Given the description of an element on the screen output the (x, y) to click on. 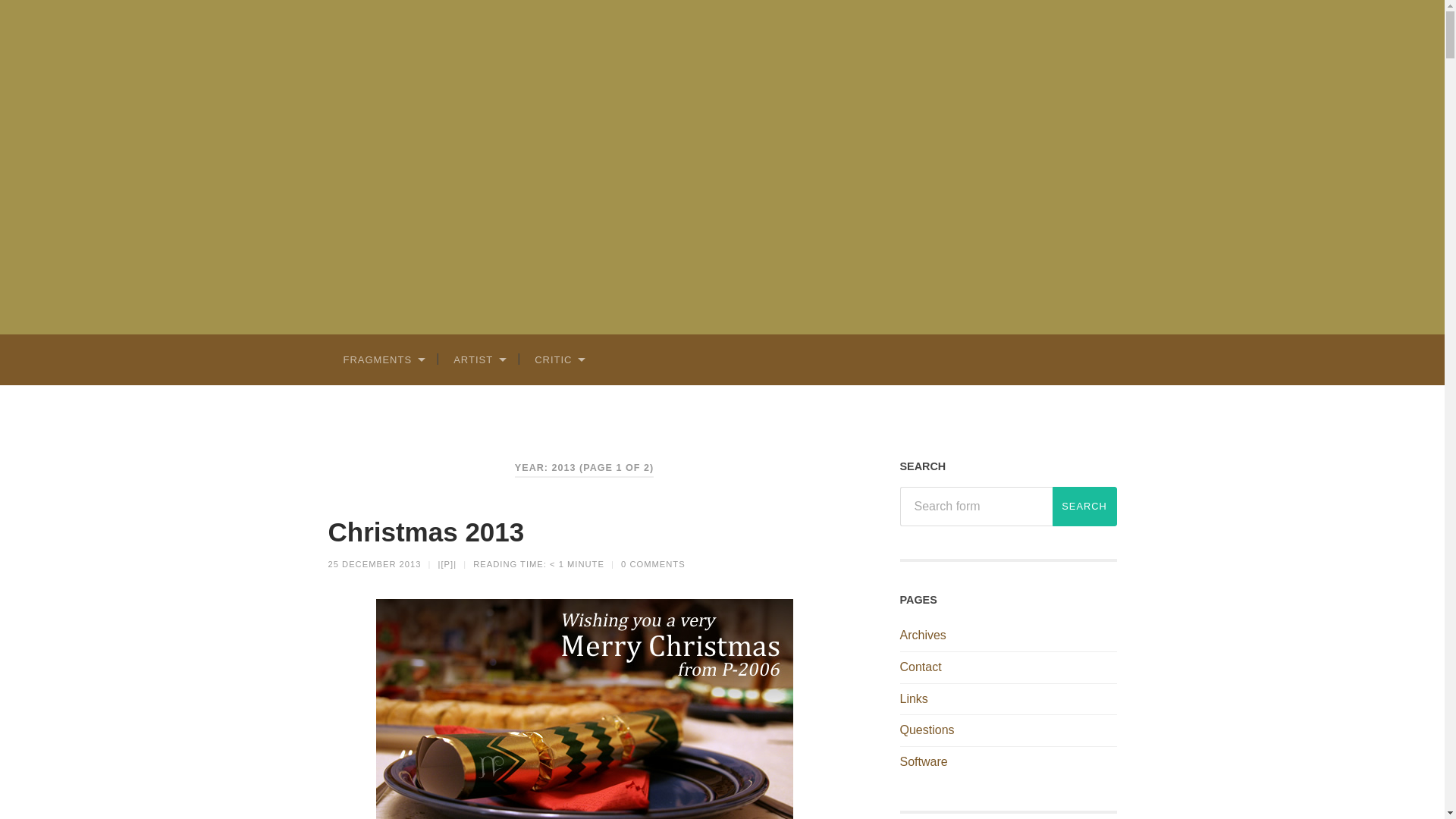
Christmas 2013 (425, 531)
FRAGMENTS (382, 358)
ARTIST (478, 358)
CRITIC (558, 358)
Christmas 2013 (425, 531)
Christmas 2013 (373, 563)
Search (1084, 506)
25 DECEMBER 2013 (373, 563)
